Given the description of an element on the screen output the (x, y) to click on. 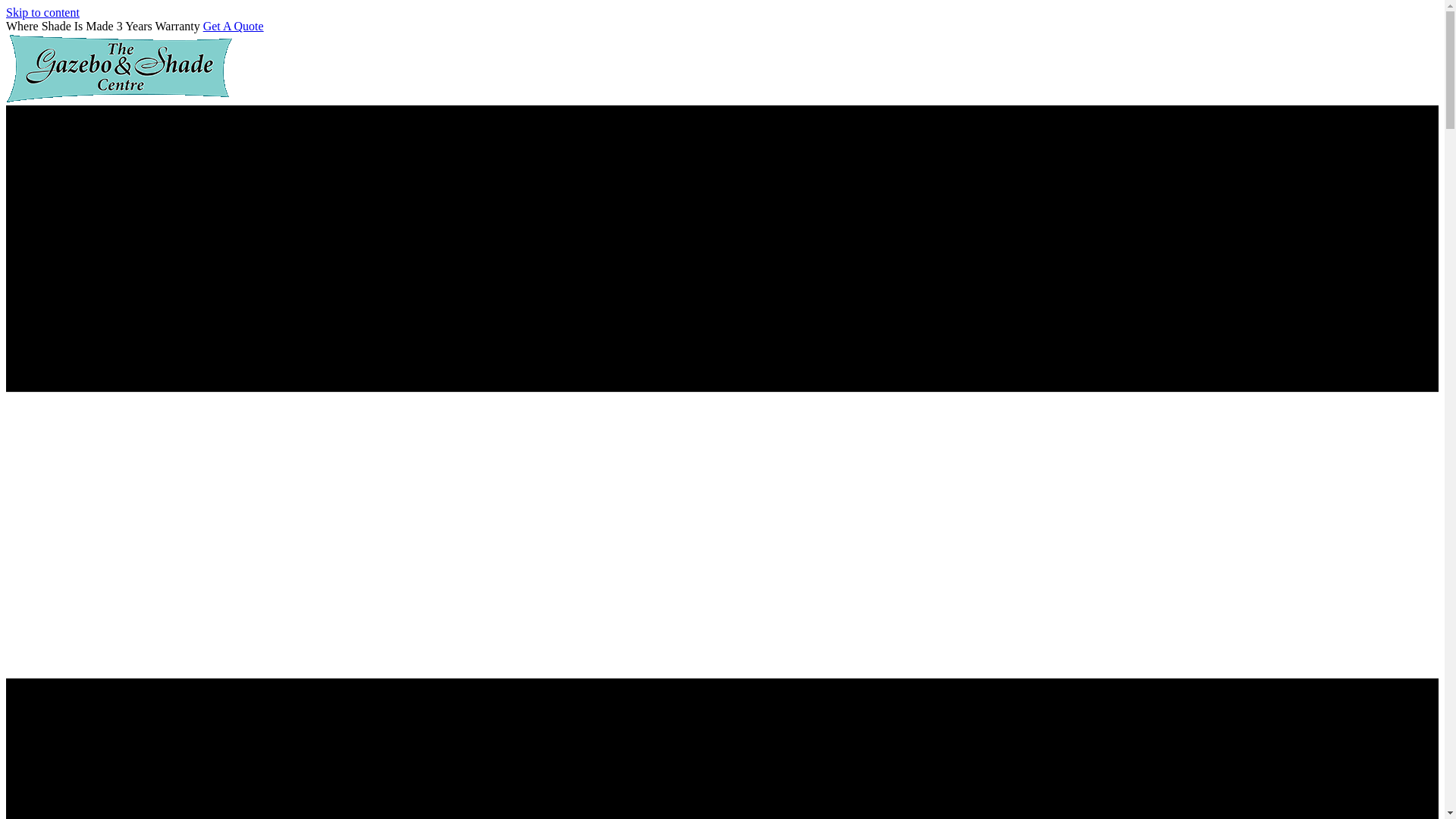
Skip to content Element type: text (42, 12)
Get A Quote Element type: text (233, 25)
Gazebo-and-Shade-logo Element type: hover (119, 67)
